Given the description of an element on the screen output the (x, y) to click on. 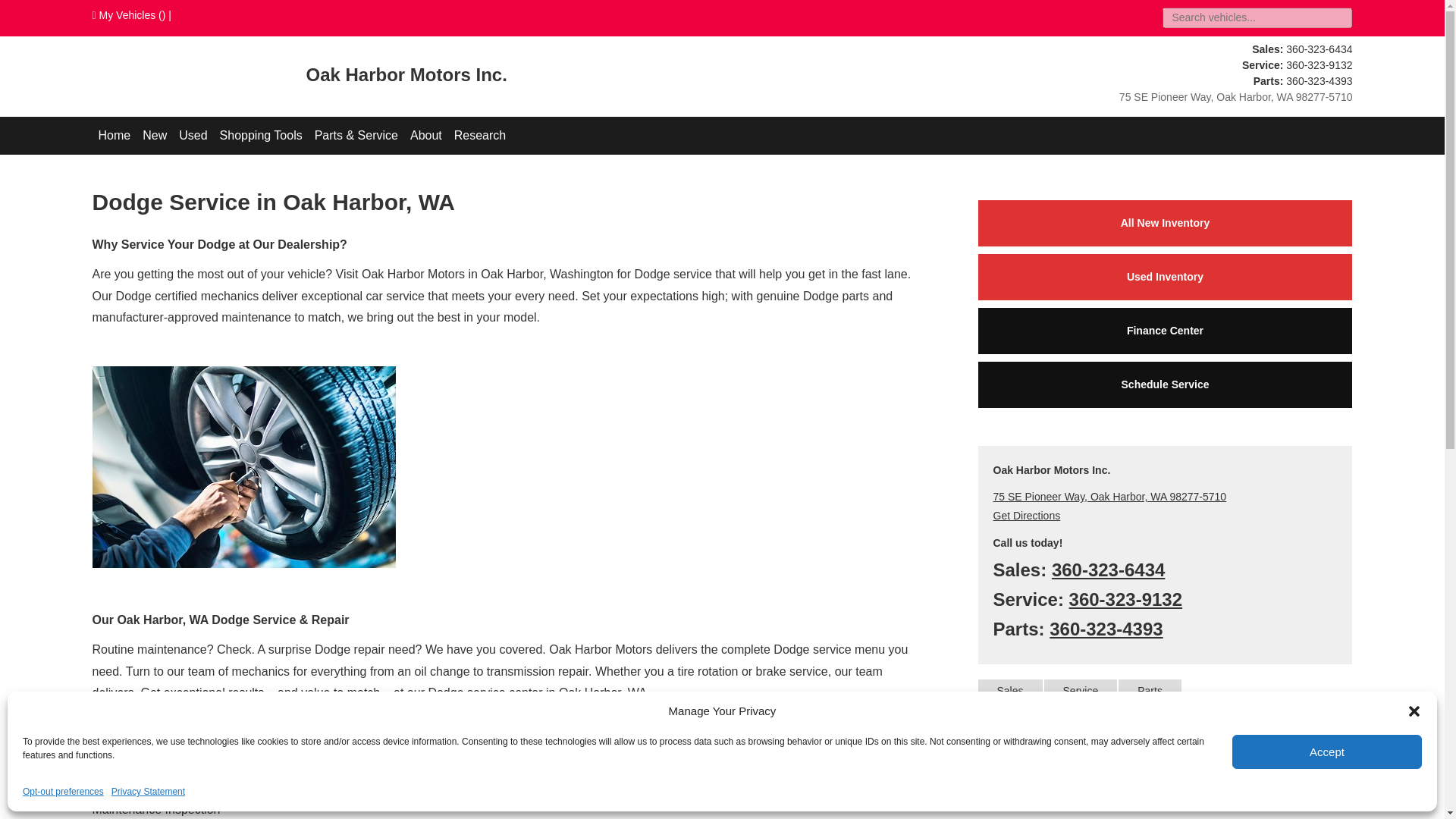
75 SE Pioneer Way, Oak Harbor, WA 98277-5710 (1235, 96)
Home (114, 135)
Privacy Statement (148, 791)
New (154, 135)
360-323-4393 (1318, 80)
360-323-6434 (1318, 49)
Accept (1326, 751)
360-323-9132 (1318, 64)
Opt-out preferences (63, 791)
